Given the description of an element on the screen output the (x, y) to click on. 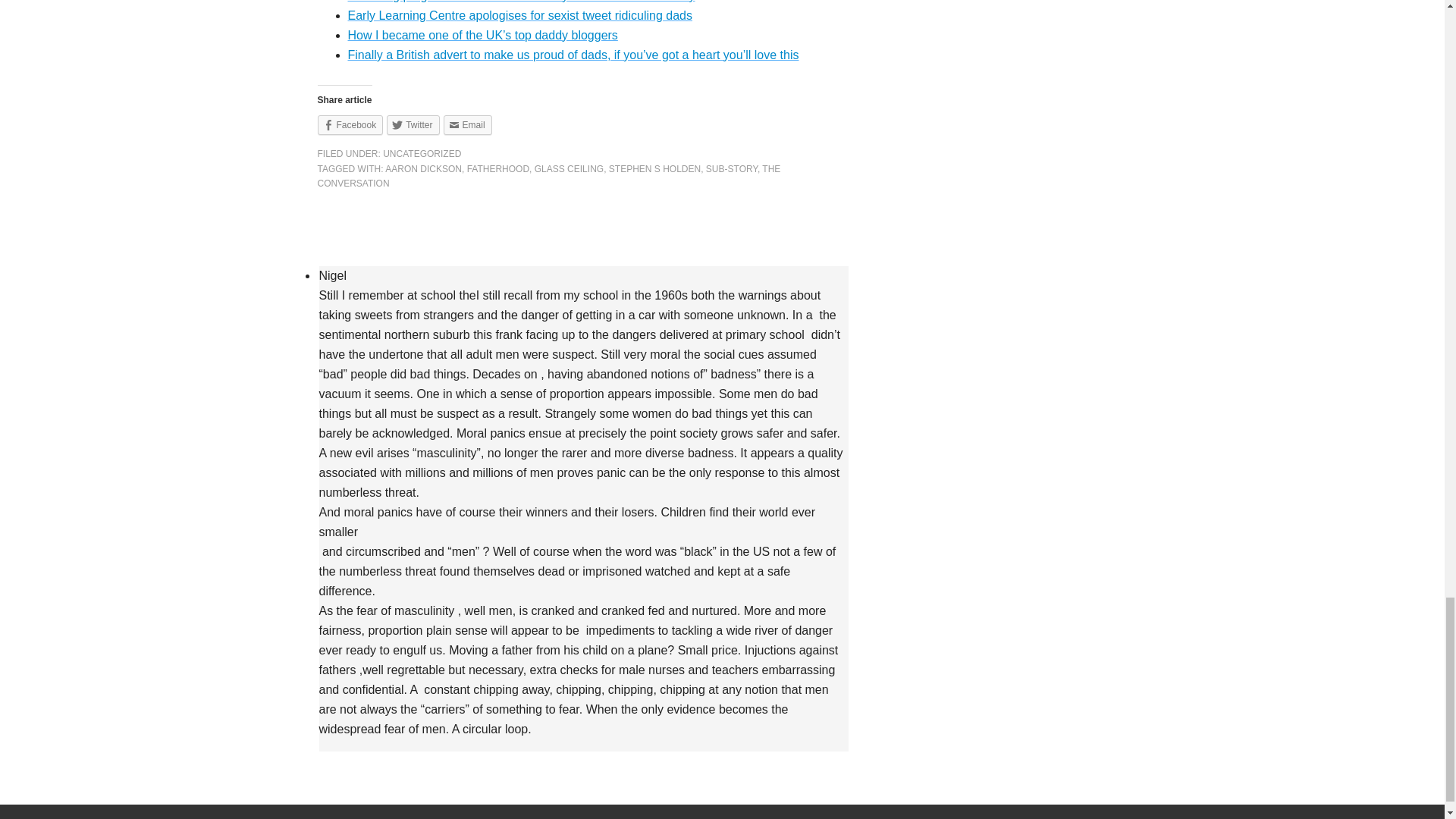
Facebook (349, 125)
Click to share on Twitter (413, 125)
UNCATEGORIZED (421, 153)
STEPHEN S HOLDEN (654, 168)
Twitter (413, 125)
FATHERHOOD (498, 168)
Email (468, 125)
Click to share on Facebook (349, 125)
